Given the description of an element on the screen output the (x, y) to click on. 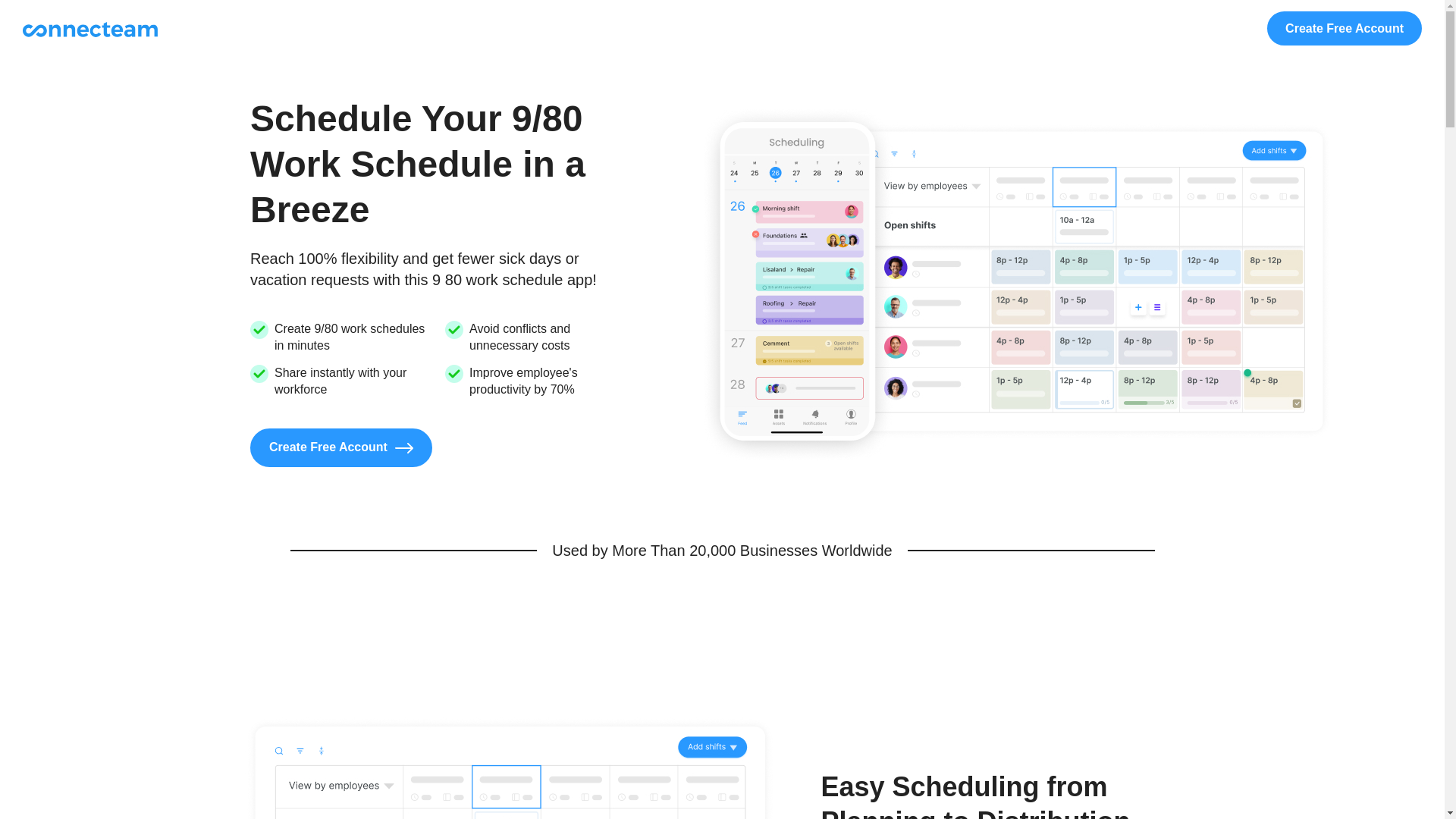
Create Free Account (1344, 28)
Create Free Account (341, 447)
